Given the description of an element on the screen output the (x, y) to click on. 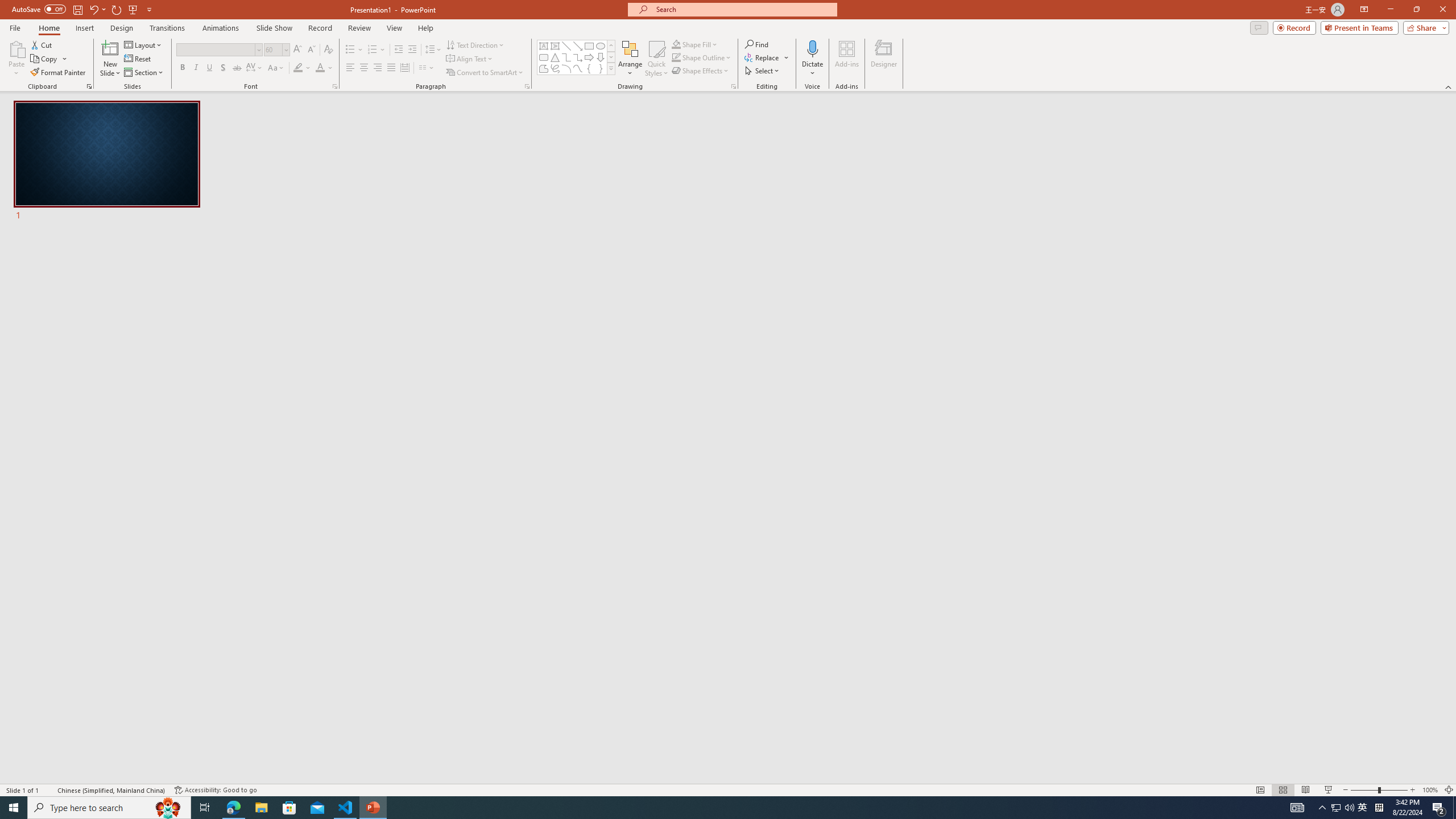
Spell Check  (49, 790)
